Given the description of an element on the screen output the (x, y) to click on. 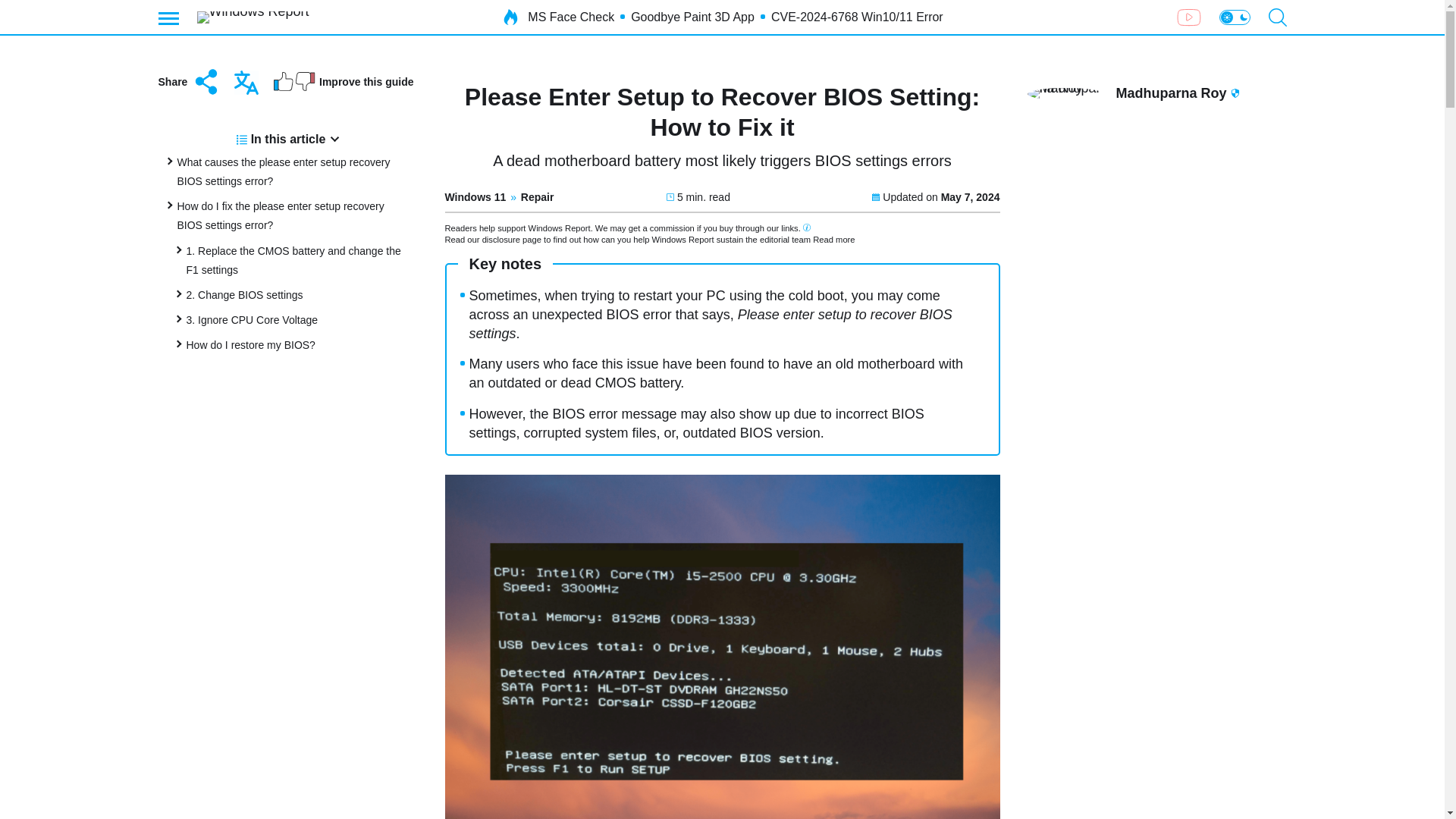
Open search bar (1276, 17)
2. Change BIOS settings (244, 295)
Share (189, 81)
MS Face Check (570, 17)
1. Replace the CMOS battery and change the F1 settings (293, 260)
Goodbye Paint 3D App (692, 17)
Share this article (189, 81)
